Given the description of an element on the screen output the (x, y) to click on. 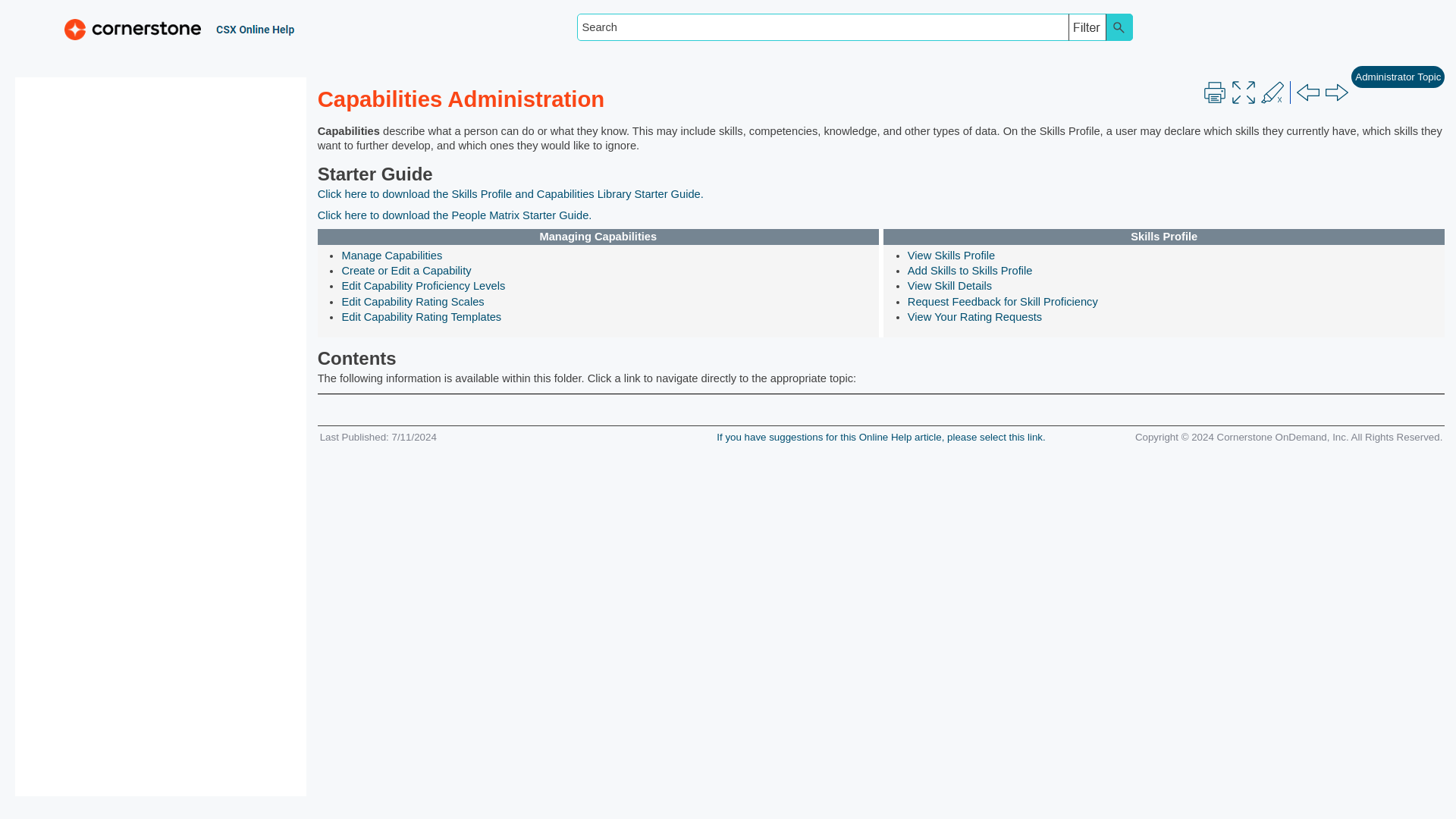
Add Skills to Skills Profile (969, 270)
Remove Highlights (1272, 92)
View Your Rating Requests (974, 316)
Cornerstone Online Help Homepage (169, 27)
Manage Capabilities (391, 255)
Create or Edit a Capability (405, 270)
Search (1119, 27)
Print (1214, 92)
View Skills Profile (950, 255)
View Skill Details (949, 285)
Edit Capability Rating Templates (420, 316)
Edit Capability Proficiency Levels (422, 285)
All Files (1087, 27)
Click here to download the People Matrix Starter Guide. (454, 215)
Edit Capability Rating Scales (411, 301)
